Given the description of an element on the screen output the (x, y) to click on. 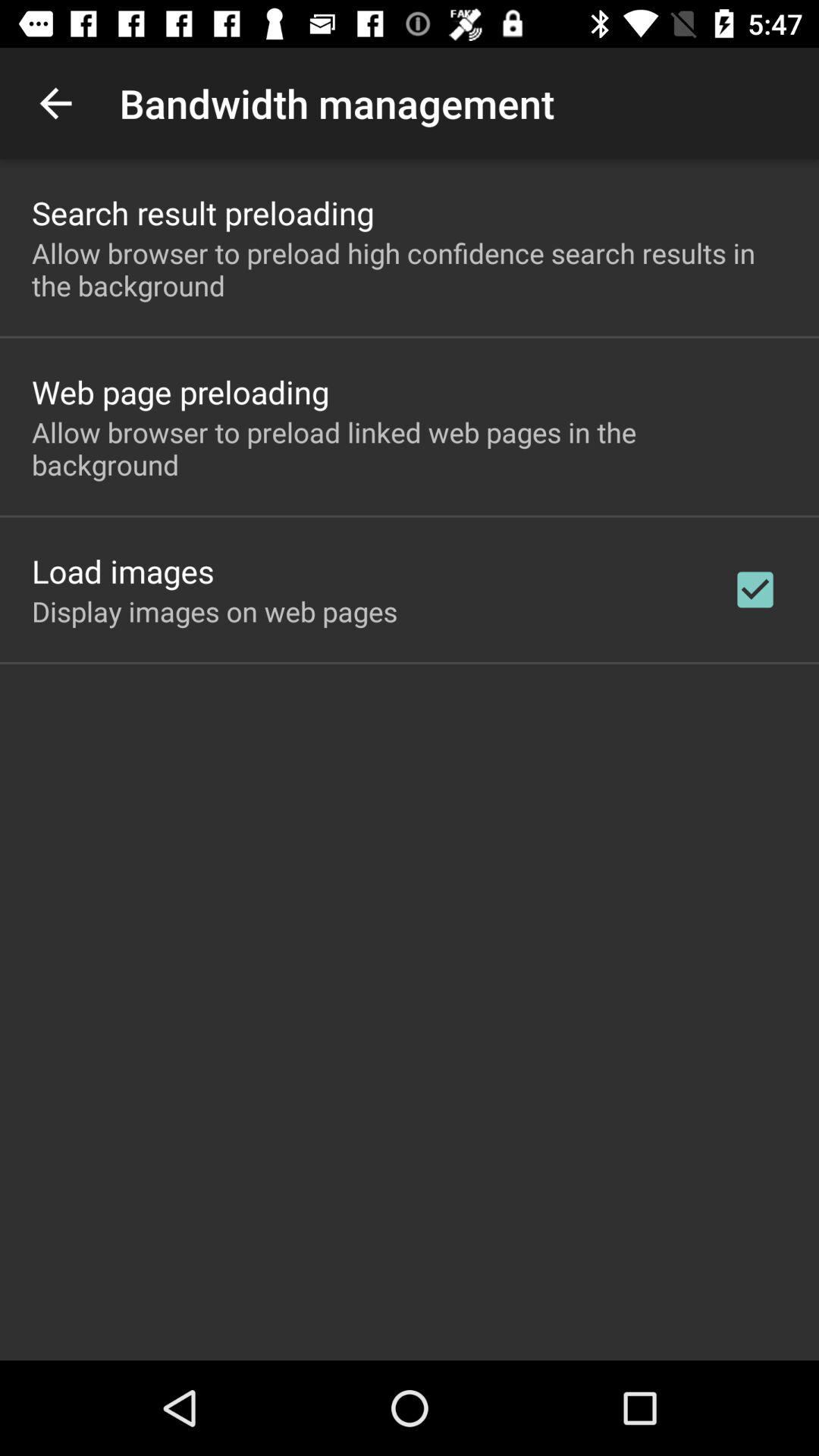
flip to the web page preloading item (180, 391)
